Given the description of an element on the screen output the (x, y) to click on. 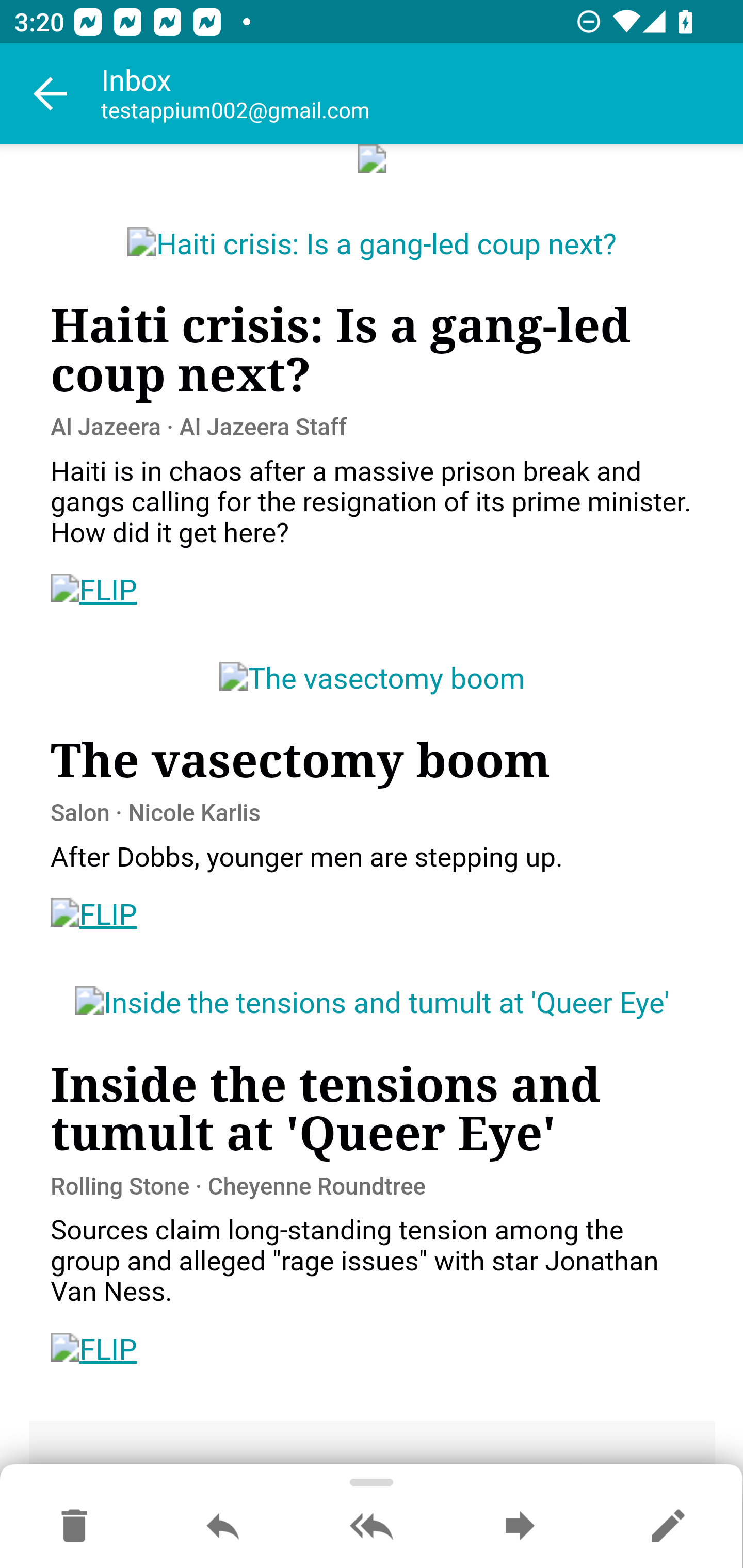
Navigate up (50, 93)
Inbox testappium002@gmail.com (422, 93)
data: (372, 159)
FLIP (93, 591)
FLIP (93, 916)
FLIP (93, 1350)
Move to Deleted (74, 1527)
Reply (222, 1527)
Reply all (371, 1527)
Forward (519, 1527)
Reply as new (667, 1527)
